Given the description of an element on the screen output the (x, y) to click on. 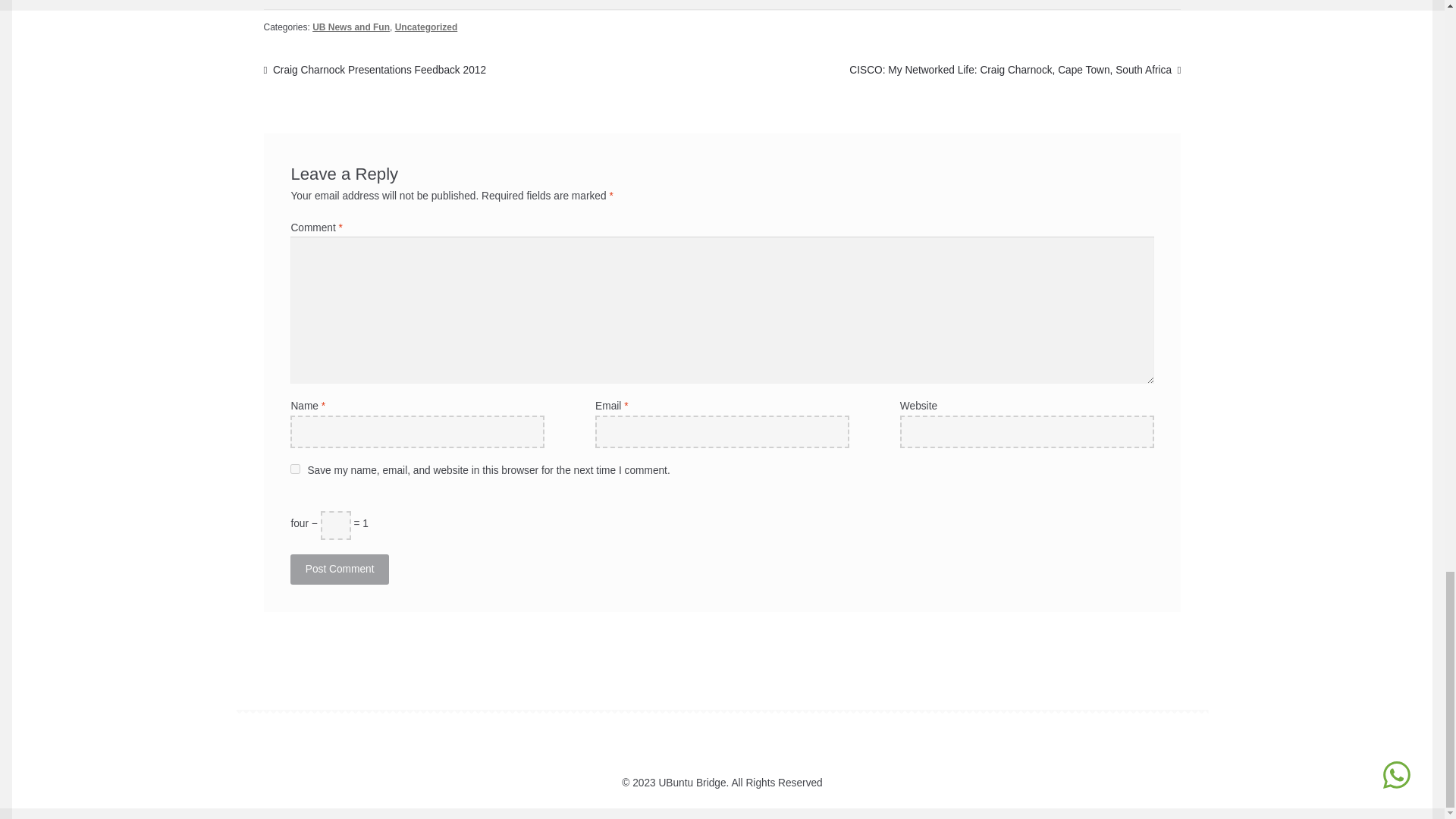
Post Comment (338, 568)
yes (294, 469)
